Given the description of an element on the screen output the (x, y) to click on. 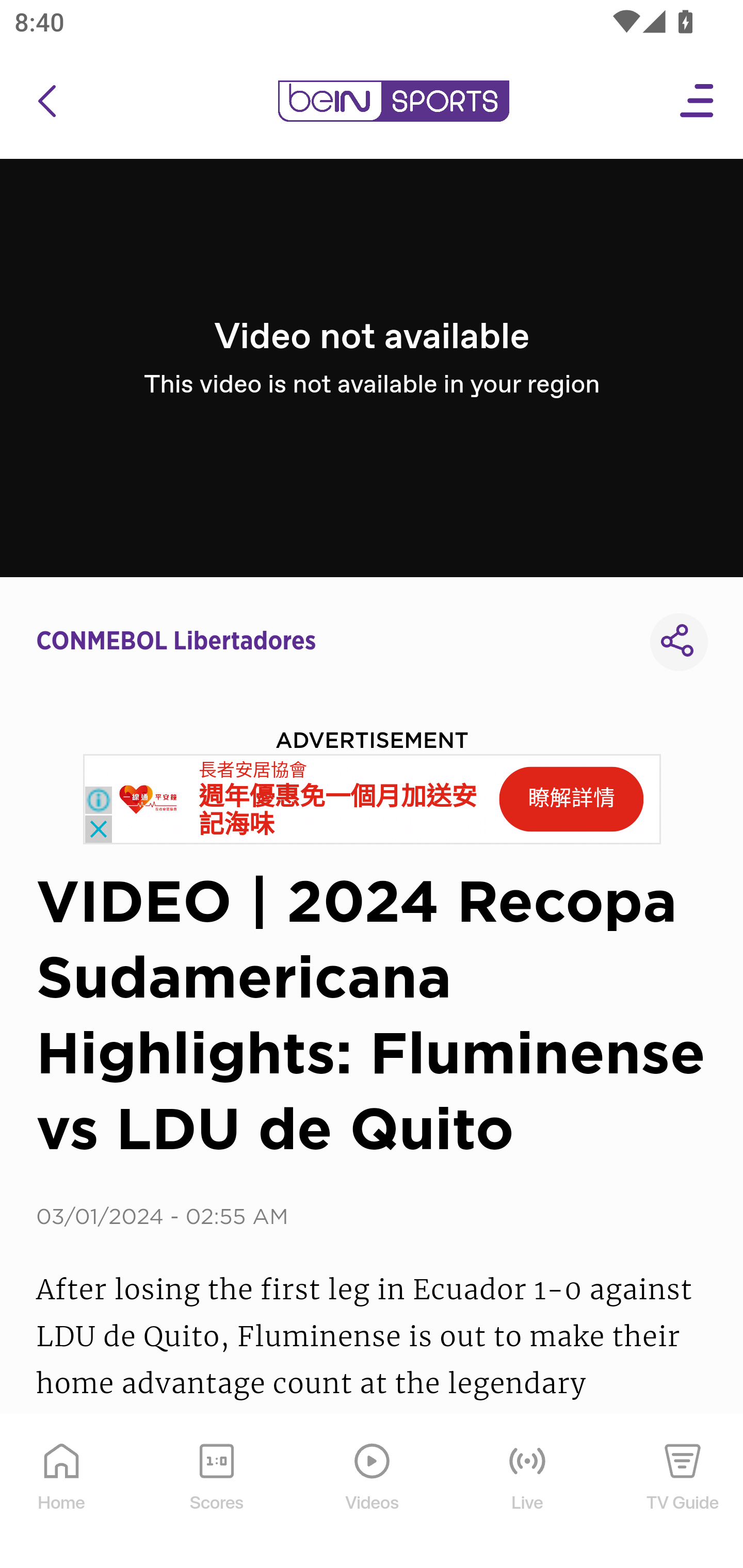
en-us?platform=mobile_android bein logo (392, 101)
icon back (46, 101)
Open Menu Icon (697, 101)
長者安居協會 (253, 769)
瞭解詳情 (571, 799)
週年優惠免一個月加送安 記海味 週年優惠免一個月加送安 記海味 (338, 811)
Home Home Icon Home (61, 1491)
Scores Scores Icon Scores (216, 1491)
Videos Videos Icon Videos (372, 1491)
TV Guide TV Guide Icon TV Guide (682, 1491)
